Given the description of an element on the screen output the (x, y) to click on. 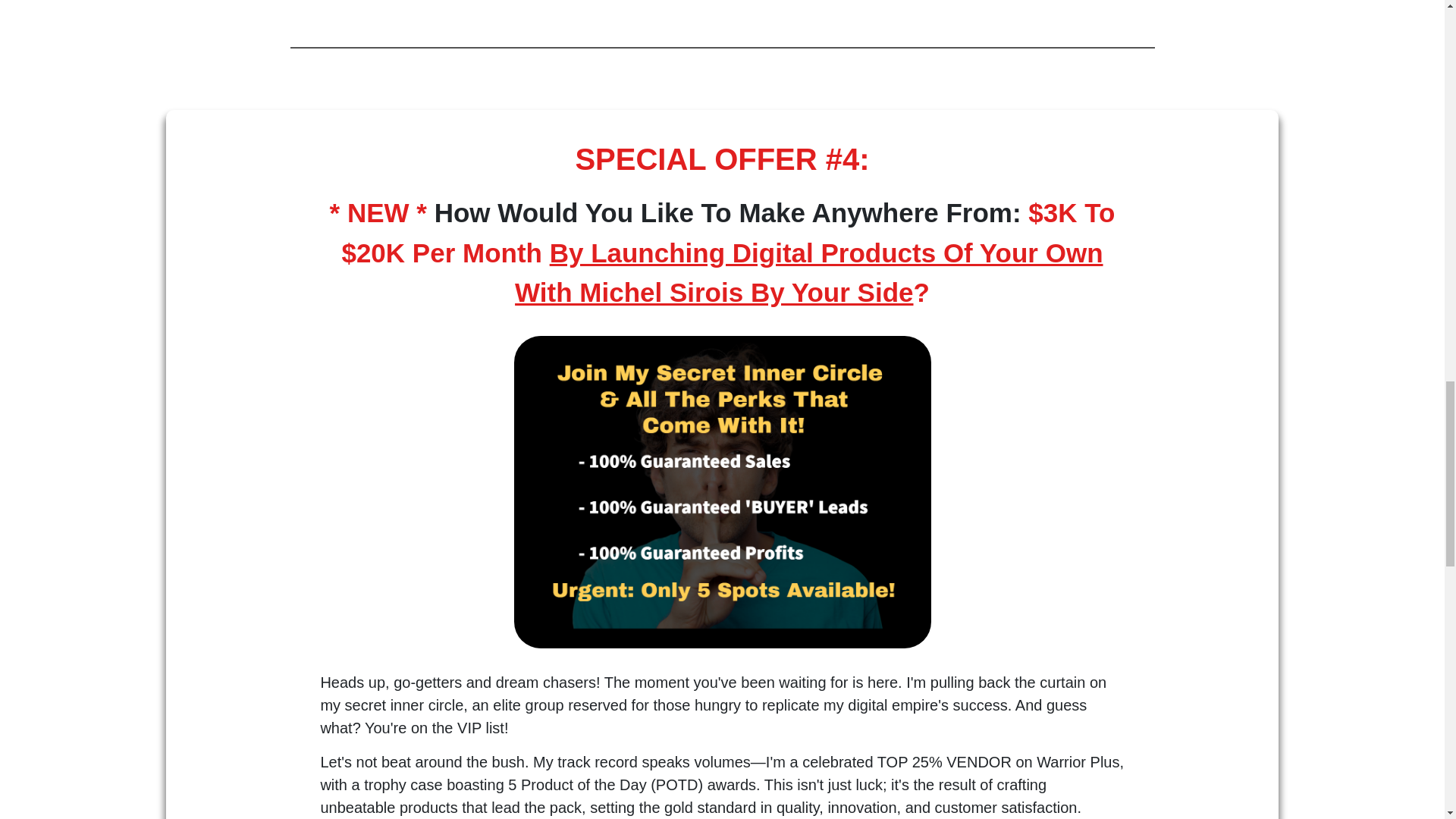
Michel-Sirois-Secret-Inner-Circle - Copy (722, 491)
